Given the description of an element on the screen output the (x, y) to click on. 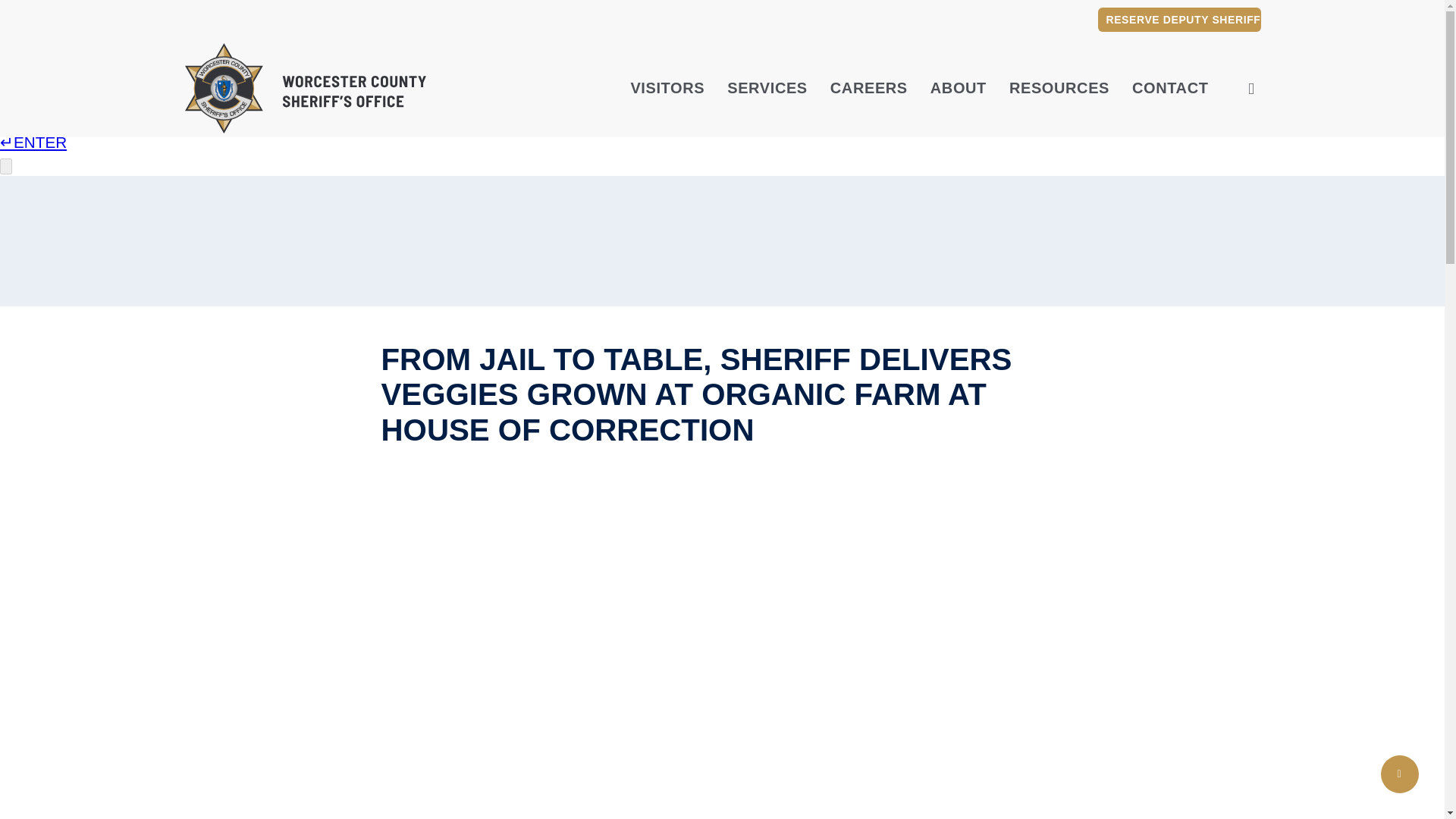
SEARCH (1250, 88)
RESOURCES (1059, 87)
CONTACT (1170, 87)
VISITORS (667, 87)
SERVICES (767, 87)
CAREERS (868, 87)
ABOUT (958, 87)
RESERVE DEPUTY SHERIFF (1178, 19)
